Given the description of an element on the screen output the (x, y) to click on. 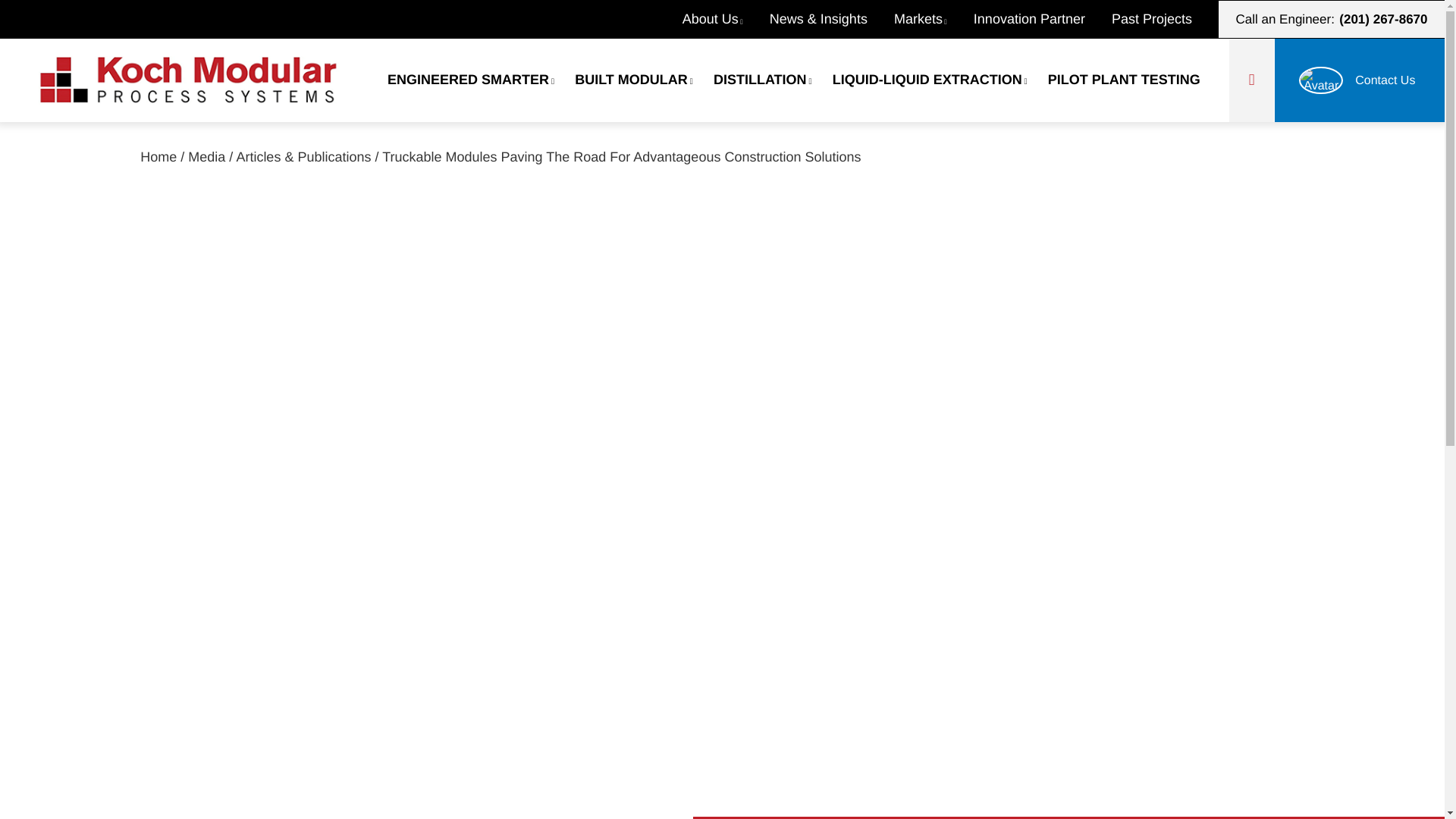
BUILT MODULAR (633, 79)
ENGINEERED SMARTER (470, 79)
About Us (726, 19)
DISTILLATION (762, 79)
LIQUID-LIQUID EXTRACTION (930, 79)
Innovation Partner (1043, 19)
Markets (933, 19)
Past Projects (1165, 19)
